Given the description of an element on the screen output the (x, y) to click on. 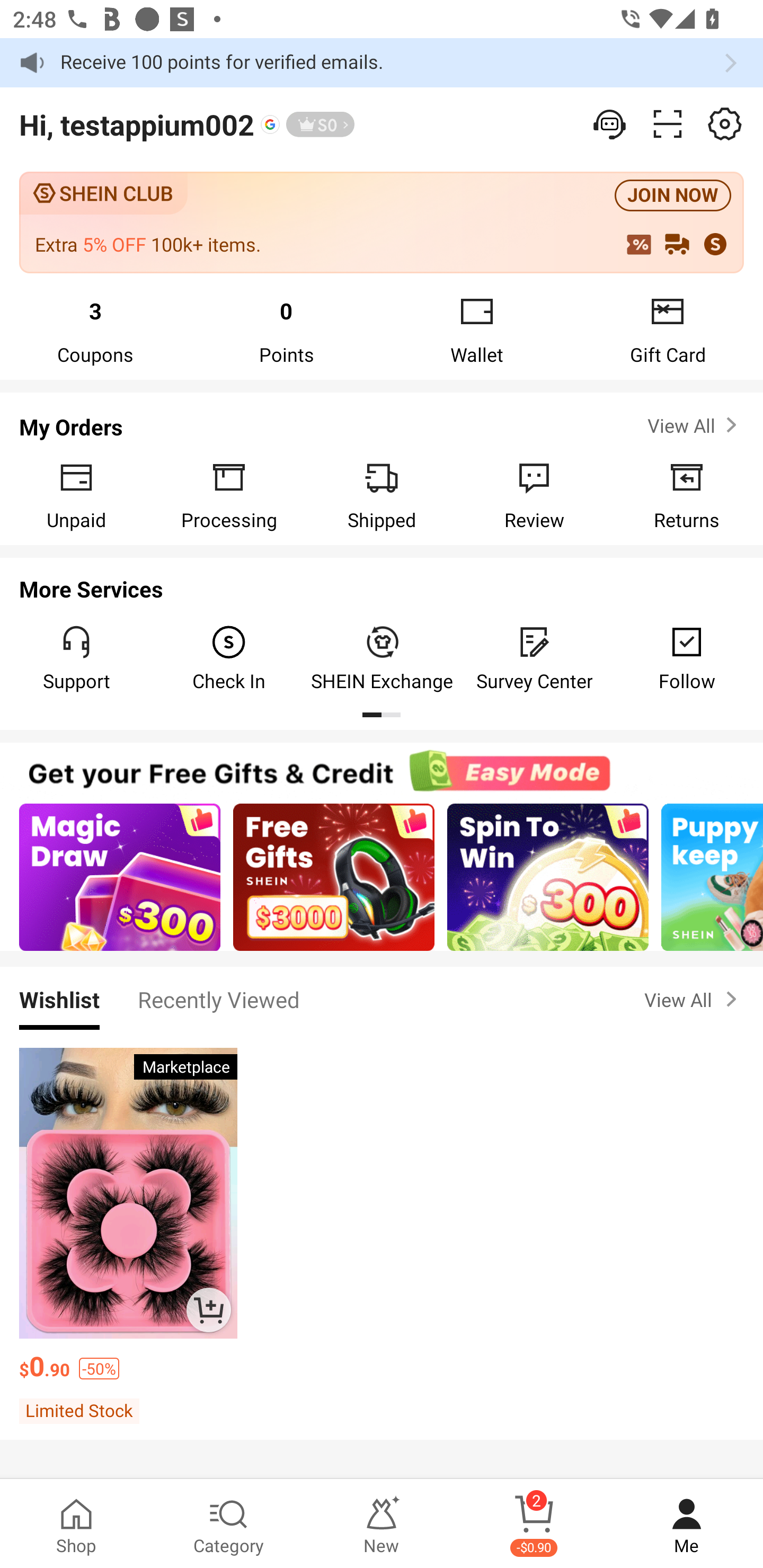
Receive 100 points for verified emails. (381, 62)
Hi, testappium002 (136, 124)
Setting (610, 123)
Scan QR Code (667, 123)
Setting (724, 123)
SHEIN VIP (320, 124)
JOIN NOW Extra 5% OFF 100k+ items. (381, 221)
JOIN NOW (672, 195)
3 Coupons 0 Points Wallet Gift Card (381, 329)
0 Points (285, 329)
Wallet (476, 329)
Gift Card (667, 329)
View All (693, 424)
Unpaid (76, 495)
Processing (228, 495)
Shipped (381, 495)
Review (533, 495)
Returns (686, 495)
More Services (381, 583)
Support (76, 657)
Check In (228, 657)
SHEIN Exchange (381, 657)
Survey Center (533, 657)
Follow (686, 657)
Wishlist Recently Viewed View All (381, 999)
Recently Viewed (218, 999)
View All (693, 999)
ADD TO CART (208, 1310)
Shop (76, 1523)
Category (228, 1523)
New (381, 1523)
Cart 2 -$0.90 (533, 1523)
